Given the description of an element on the screen output the (x, y) to click on. 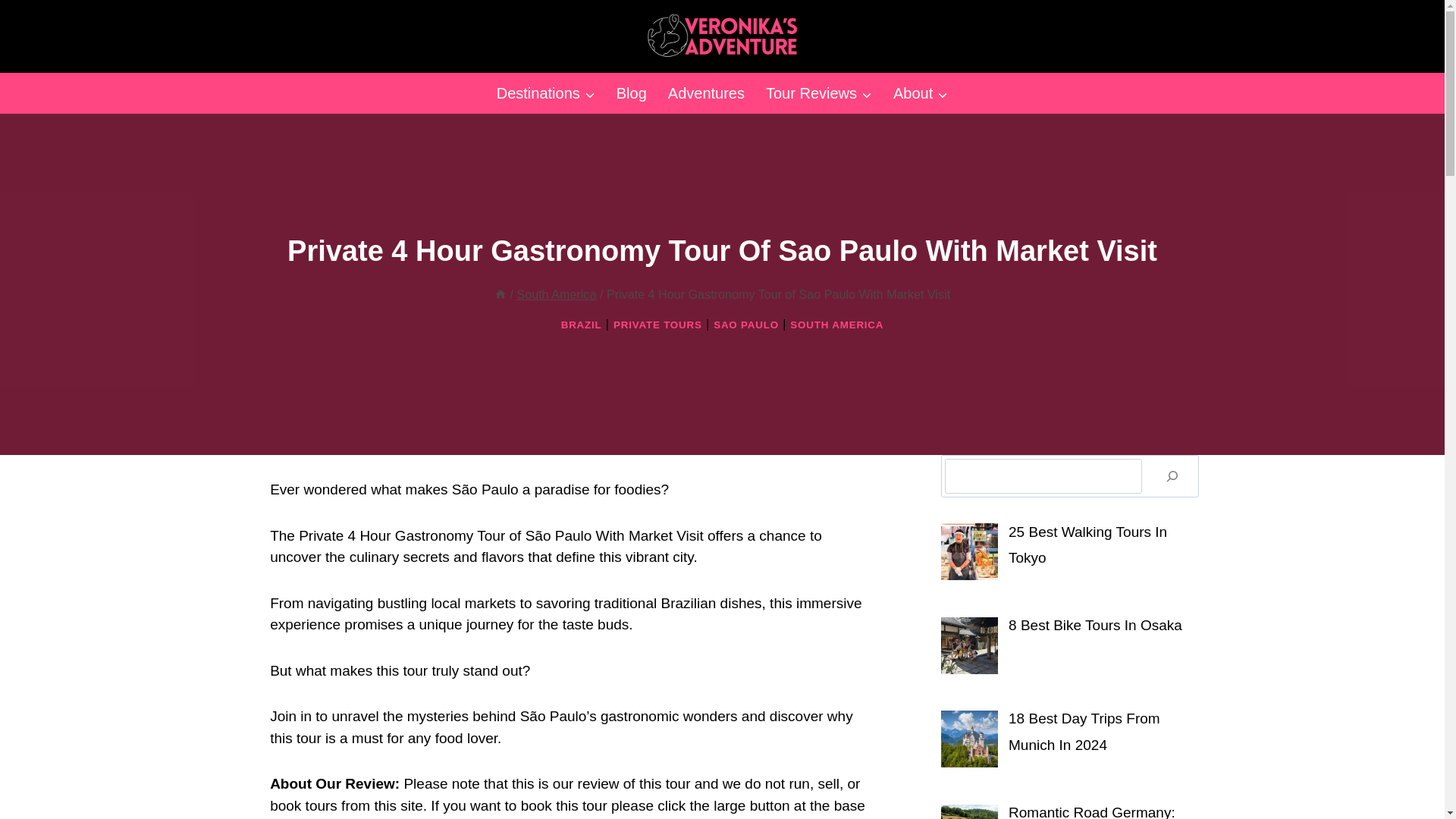
Blog (631, 92)
Home (500, 294)
About (920, 92)
BRAZIL (581, 324)
Destinations (545, 92)
Tour Reviews (818, 92)
PRIVATE TOURS (656, 324)
Adventures (706, 92)
South America (555, 294)
SAO PAULO (745, 324)
